Given the description of an element on the screen output the (x, y) to click on. 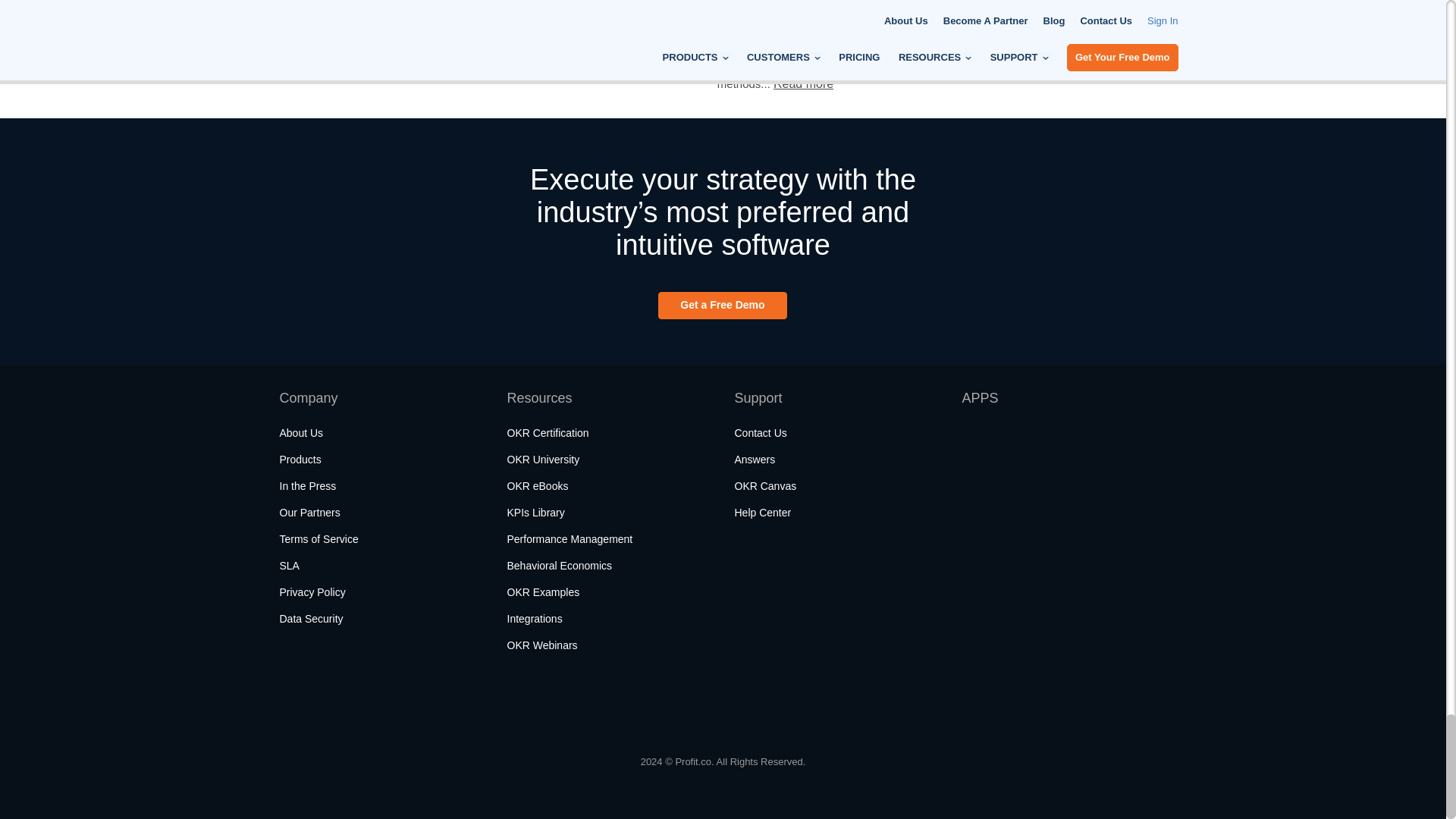
Twitter (332, 706)
Facebook (293, 706)
Youtube (413, 706)
instagram (373, 706)
LinkedIn (455, 706)
